Given the description of an element on the screen output the (x, y) to click on. 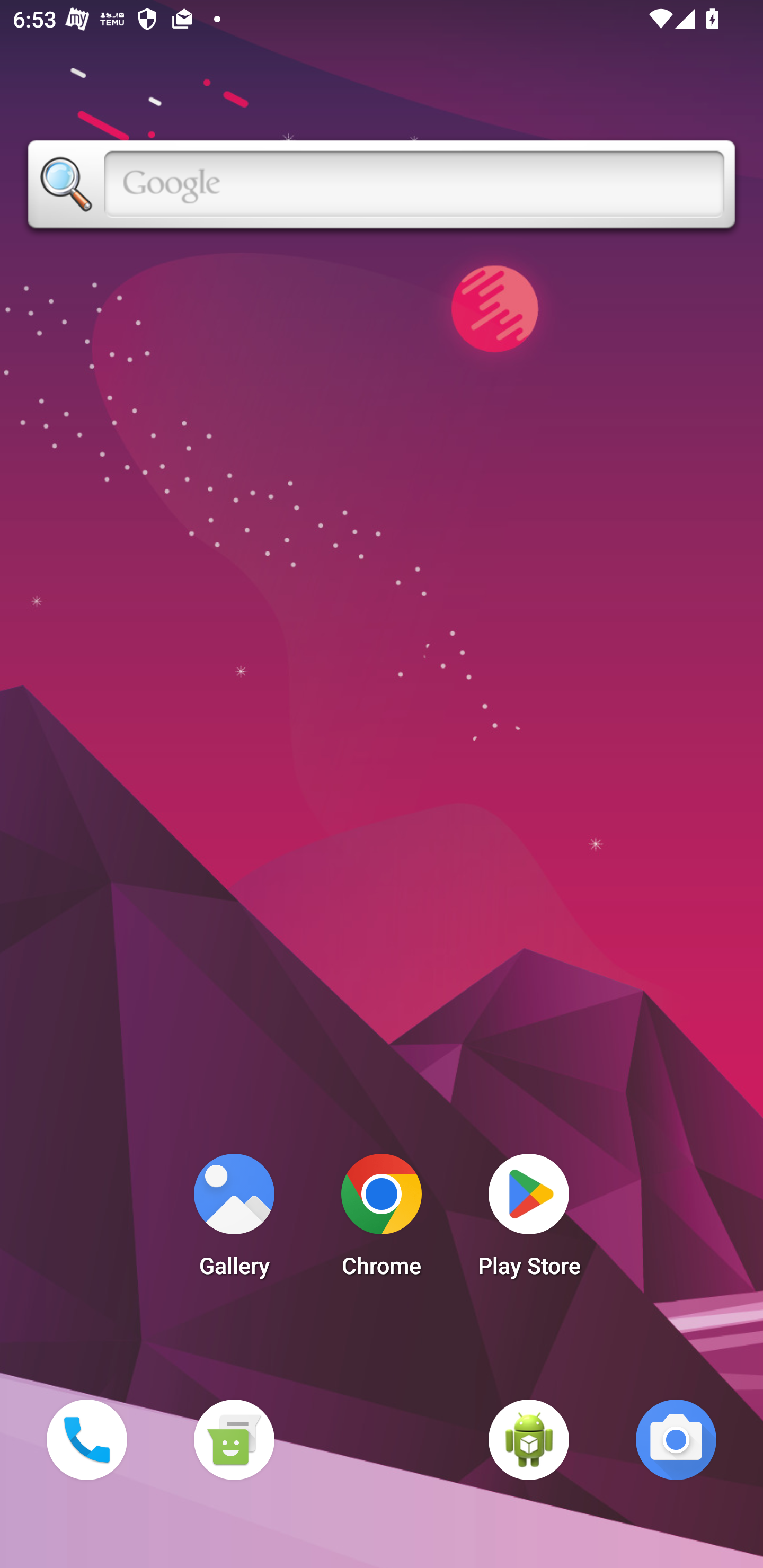
Gallery (233, 1220)
Chrome (381, 1220)
Play Store (528, 1220)
Phone (86, 1439)
Messaging (233, 1439)
WebView Browser Tester (528, 1439)
Camera (676, 1439)
